Given the description of an element on the screen output the (x, y) to click on. 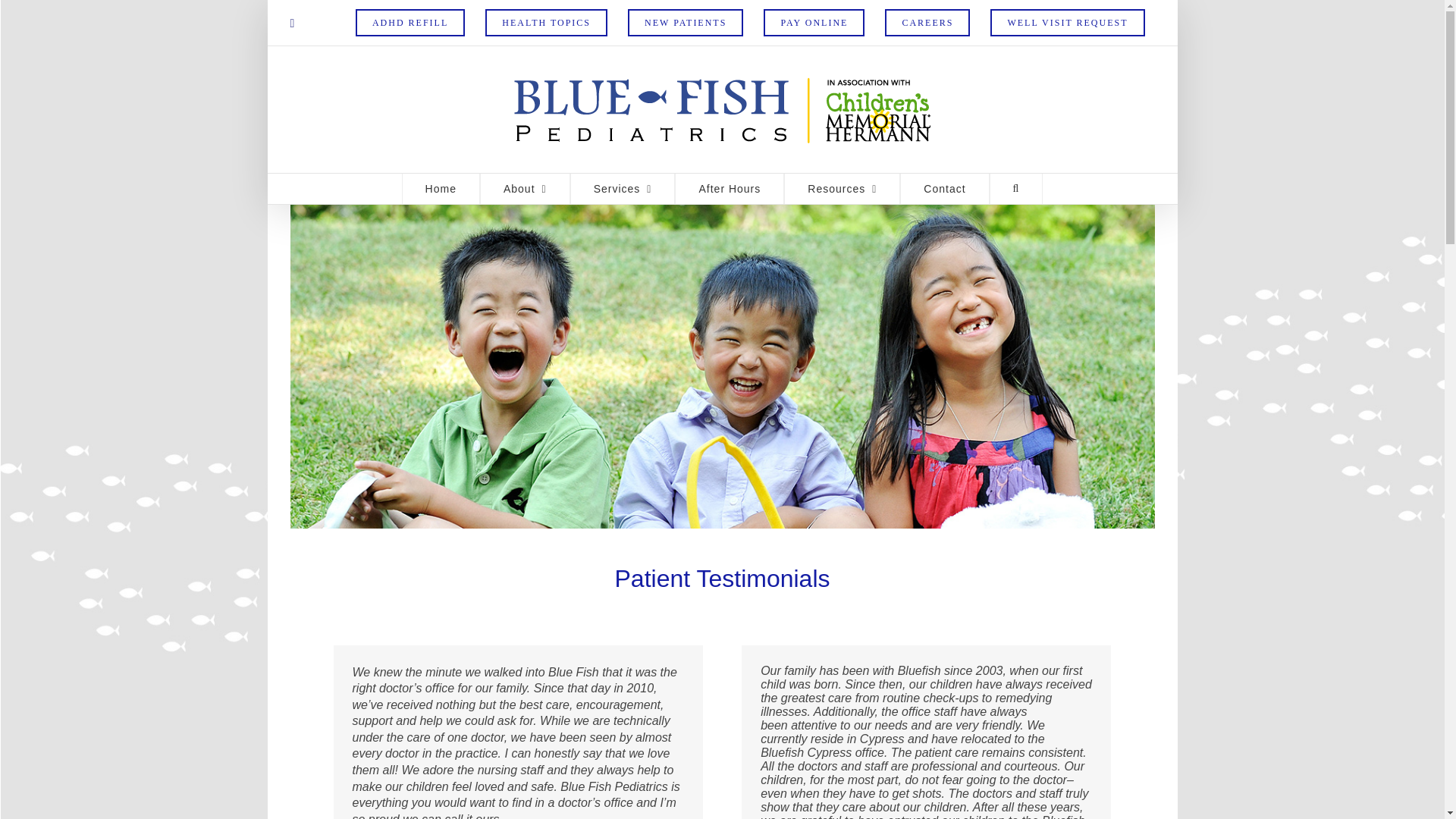
HEALTH TOPICS (546, 22)
Home (441, 188)
Services (622, 188)
NEW PATIENTS (684, 22)
About (524, 188)
CAREERS (927, 22)
WELL VISIT REQUEST (1066, 22)
ADHD REFILL (410, 22)
Search (1016, 188)
PAY ONLINE (814, 22)
